Given the description of an element on the screen output the (x, y) to click on. 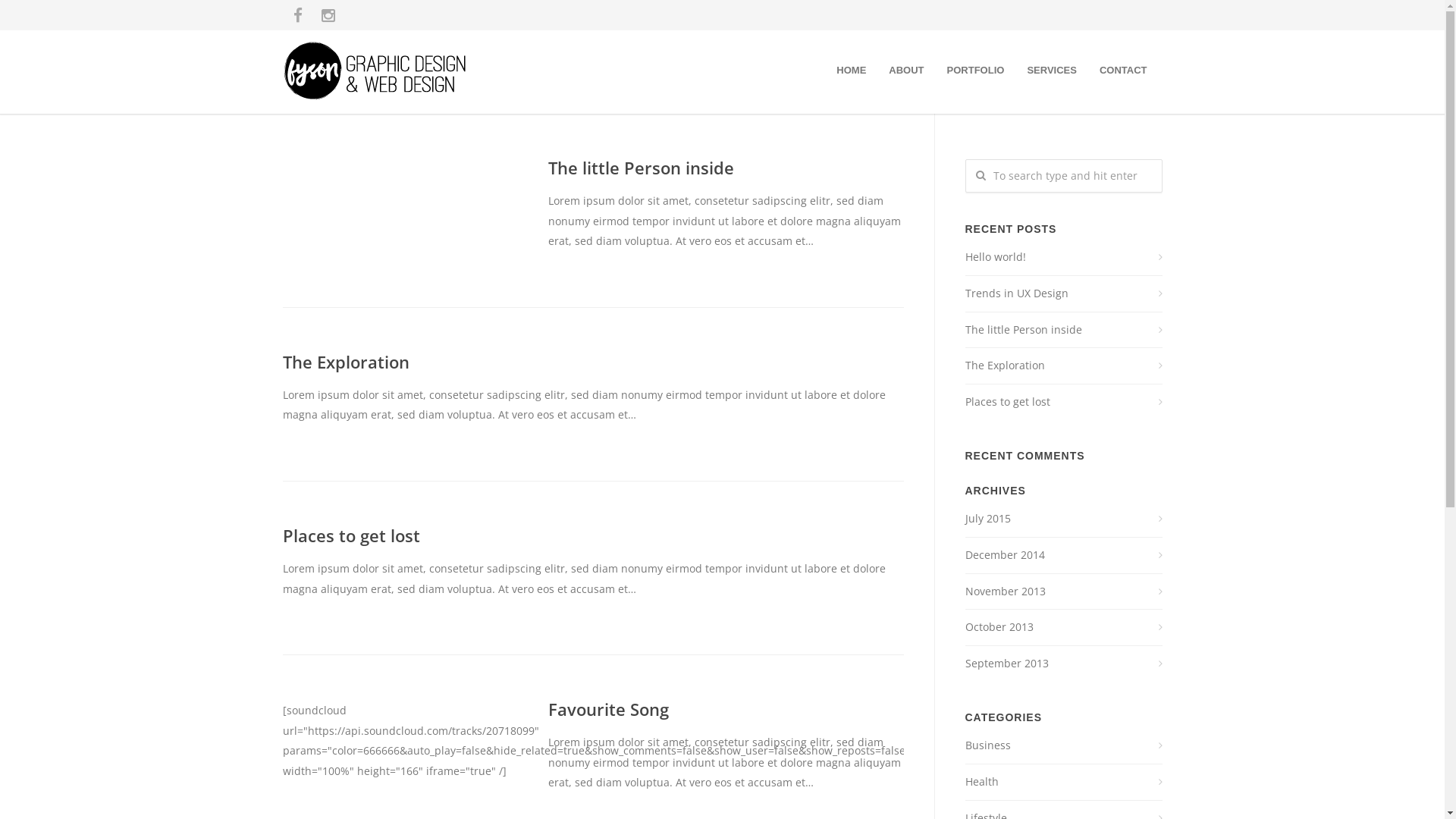
Trends in UX Design Element type: text (1062, 293)
Instagram Element type: hover (327, 15)
December 2014 Element type: text (1062, 555)
Health Element type: text (1062, 781)
July 2015 Element type: text (1062, 518)
The Exploration Element type: text (345, 361)
Places to get lost Element type: text (350, 535)
Places to get lost Element type: text (1062, 402)
September 2013 Element type: text (1062, 663)
CONTACT Element type: text (1123, 69)
The little Person inside Element type: text (1062, 330)
November 2013 Element type: text (1062, 591)
Search Element type: text (39, 16)
HOME Element type: text (851, 69)
Hello world! Element type: text (1062, 257)
Business Element type: text (1062, 745)
October 2013 Element type: text (1062, 627)
PORTFOLIO Element type: text (975, 69)
SERVICES Element type: text (1051, 69)
Facebook Element type: hover (297, 15)
The Exploration Element type: text (1062, 365)
The little Person inside Element type: text (640, 167)
Favourite Song Element type: text (607, 708)
ABOUT Element type: text (906, 69)
